Given the description of an element on the screen output the (x, y) to click on. 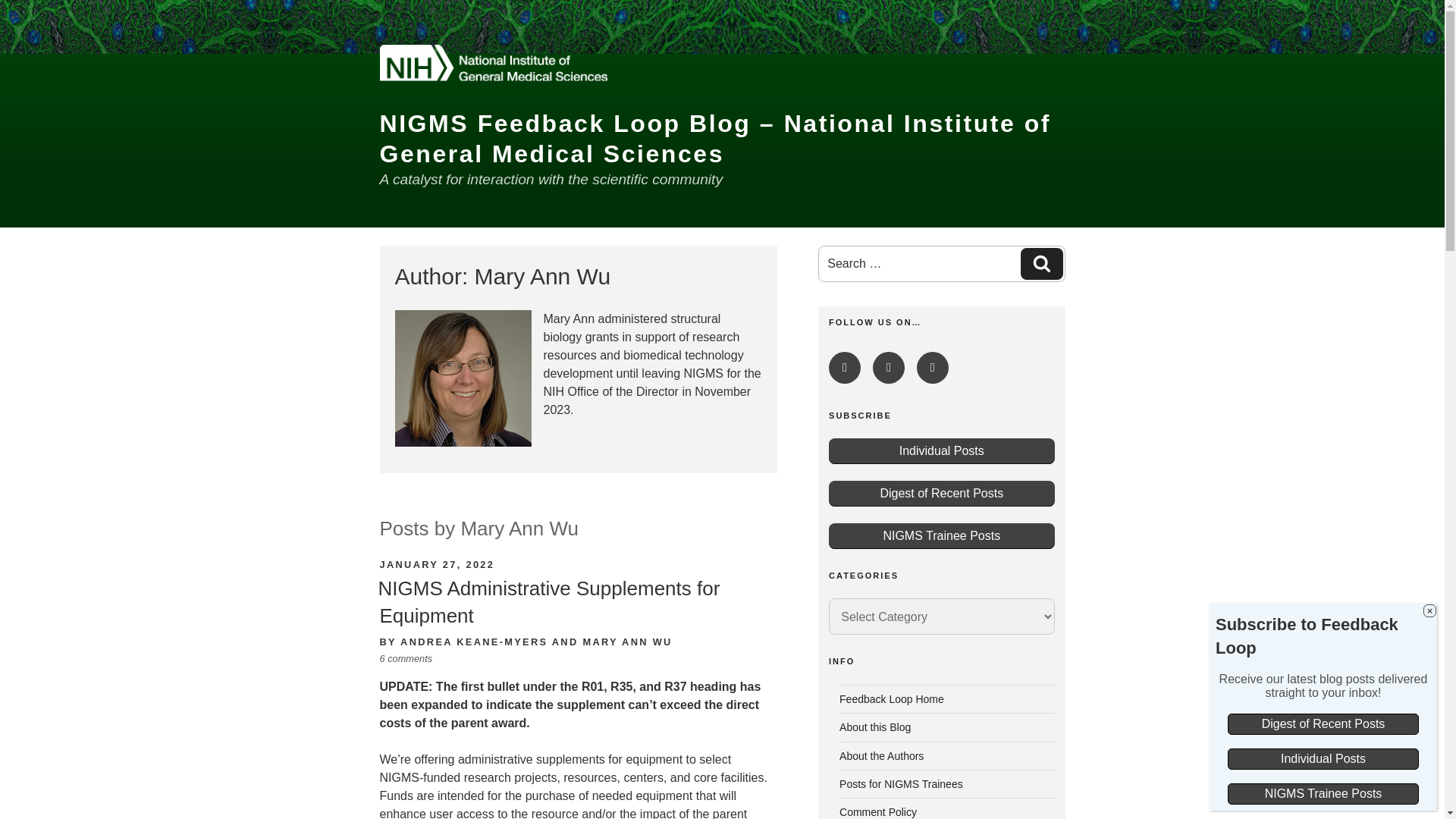
NIGMS Administrative Supplements for Equipment (548, 602)
Individual Posts (941, 451)
Instagram (844, 368)
About this Blog (1041, 264)
Posts by Andrea Keane-Myers (875, 727)
About the Authors (473, 641)
ANDREA KEANE-MYERS (881, 756)
Youtube (473, 641)
Digest of Recent Posts (933, 368)
Comment Policy (941, 493)
Search Icon (878, 811)
Feedback Loop Home (1041, 262)
Linkedin (891, 698)
NIGMS Trainee Posts (888, 368)
